Given the description of an element on the screen output the (x, y) to click on. 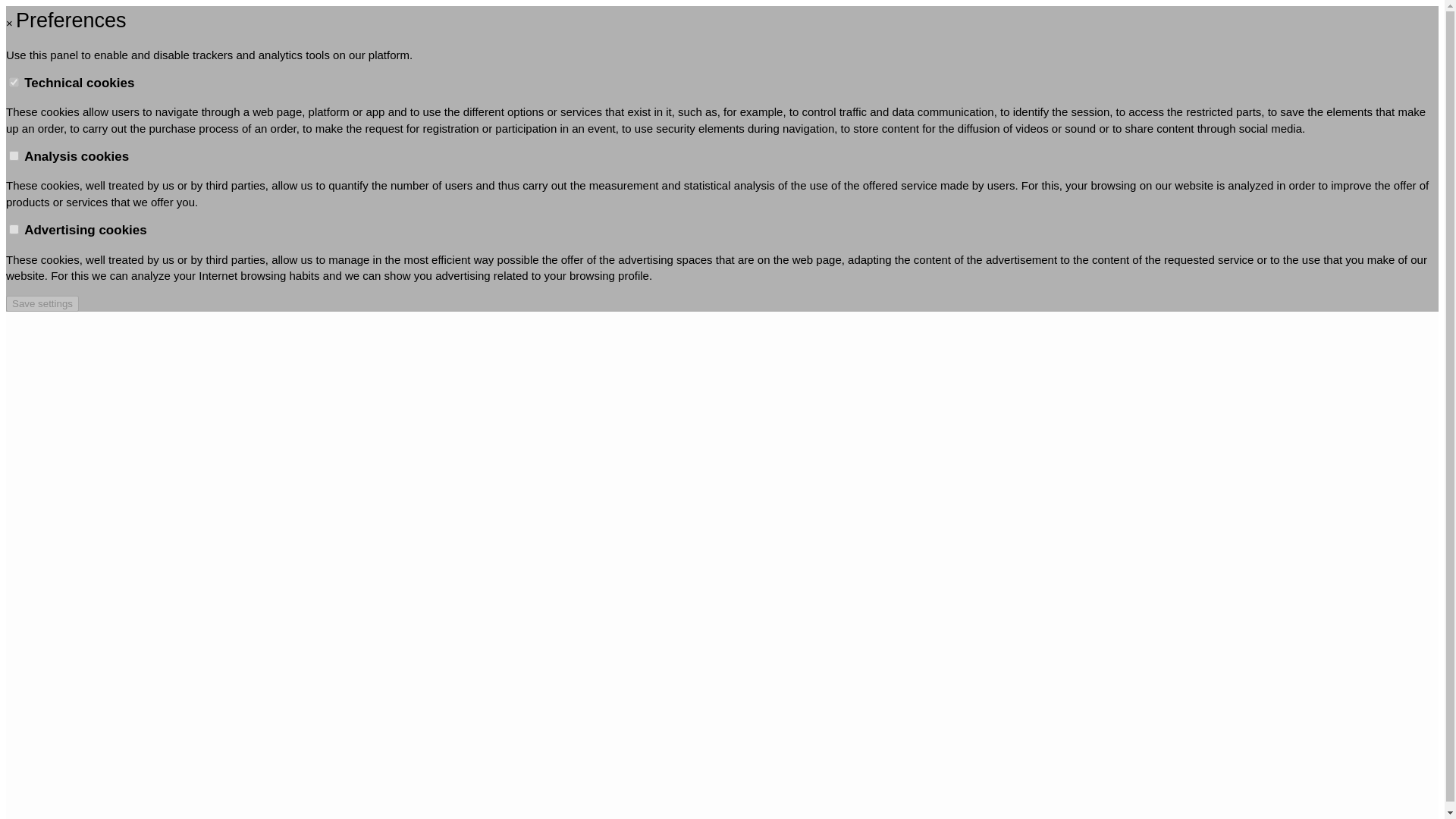
Save settings (41, 303)
on (13, 229)
on (13, 81)
on (13, 155)
